Given the description of an element on the screen output the (x, y) to click on. 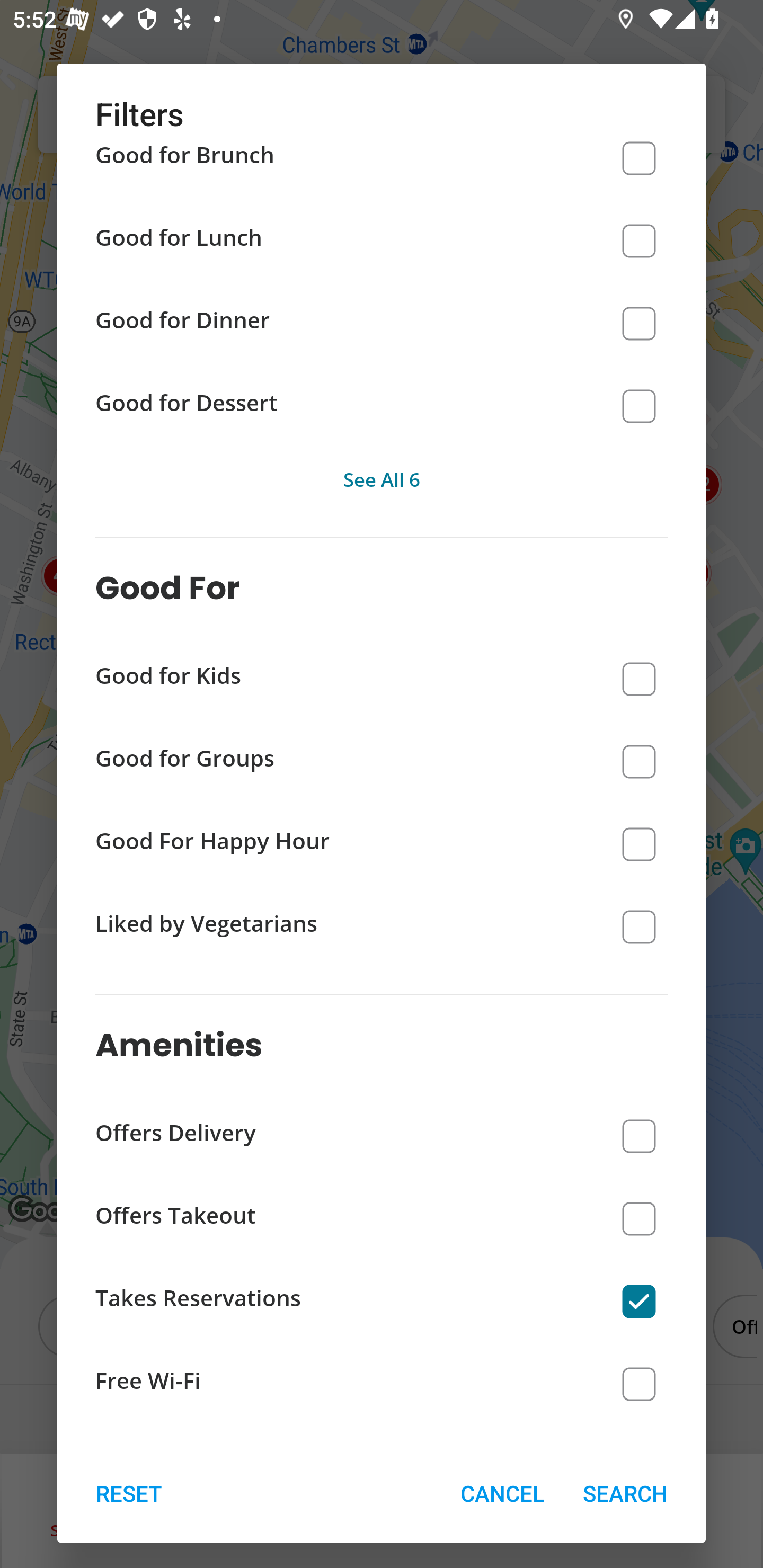
SEARCH (624, 1493)
